Given the description of an element on the screen output the (x, y) to click on. 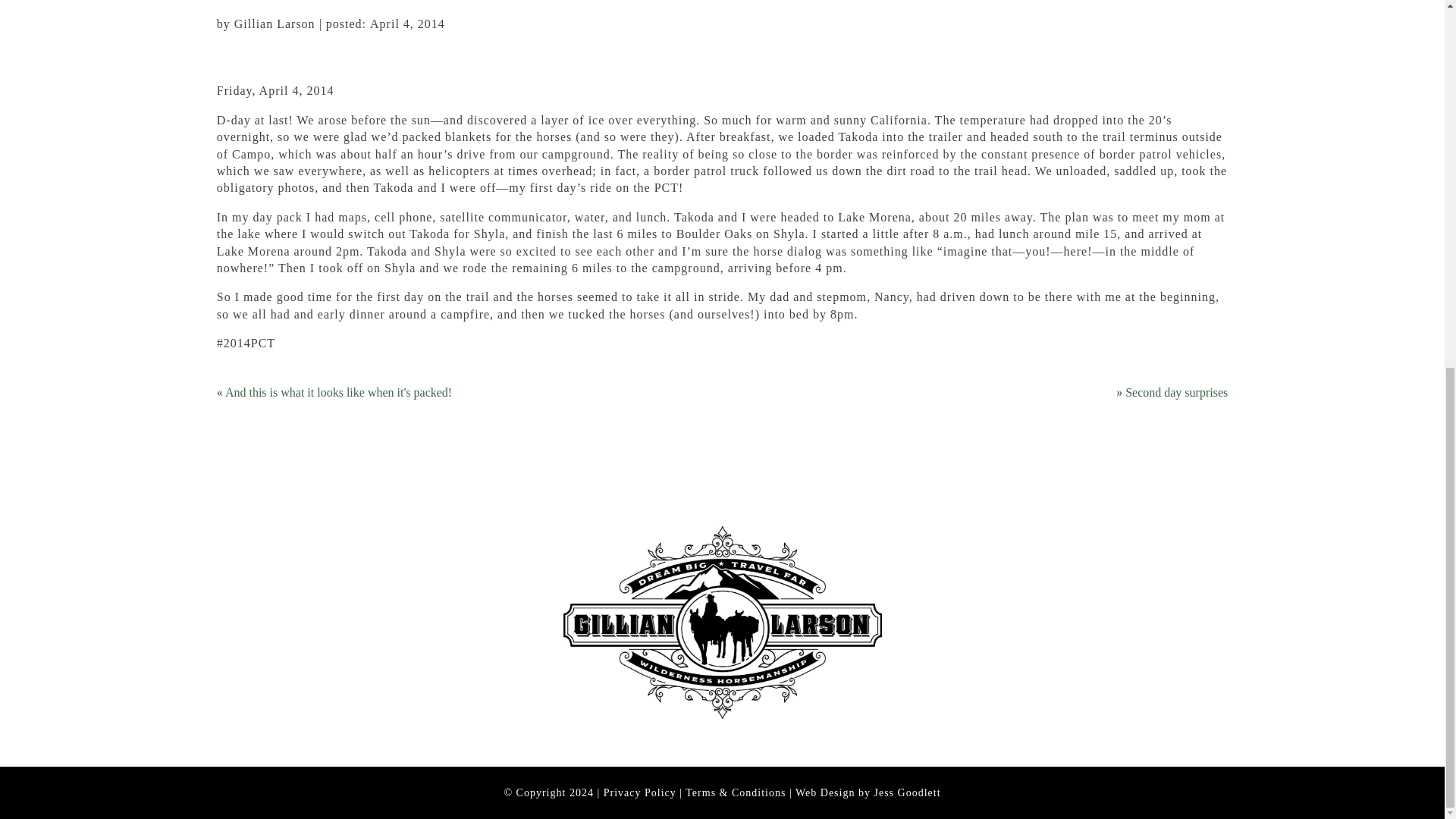
Privacy Policy (640, 792)
Jess Goodlett (906, 792)
And this is what it looks like when it's packed! (338, 391)
Second day surprises (1176, 391)
